Given the description of an element on the screen output the (x, y) to click on. 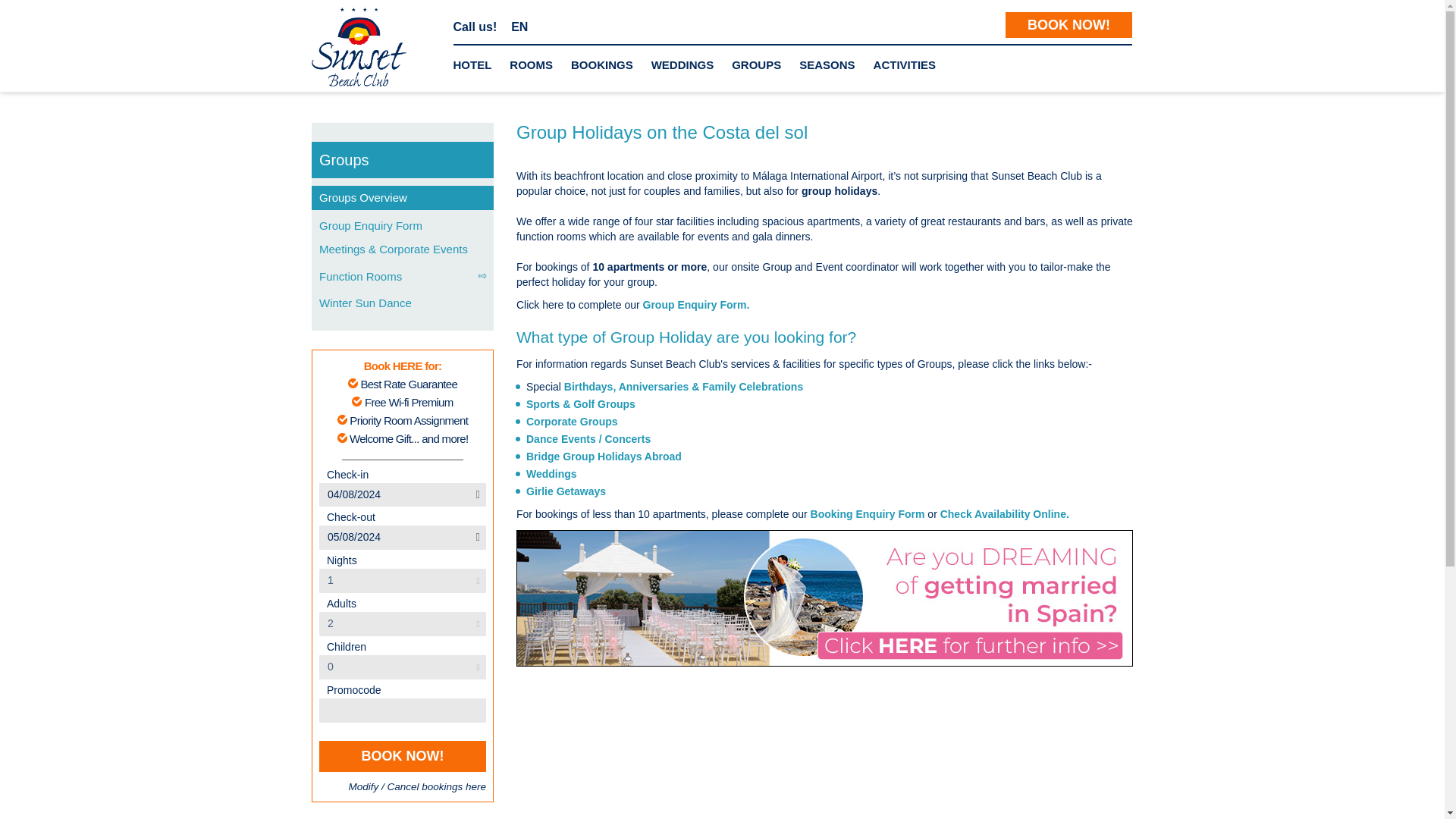
Call us! (474, 26)
BOOK NOW! (1069, 24)
HOTEL (472, 64)
EN (519, 26)
Group Enquiry Form (696, 304)
Weddings in Spain  (550, 473)
